Given the description of an element on the screen output the (x, y) to click on. 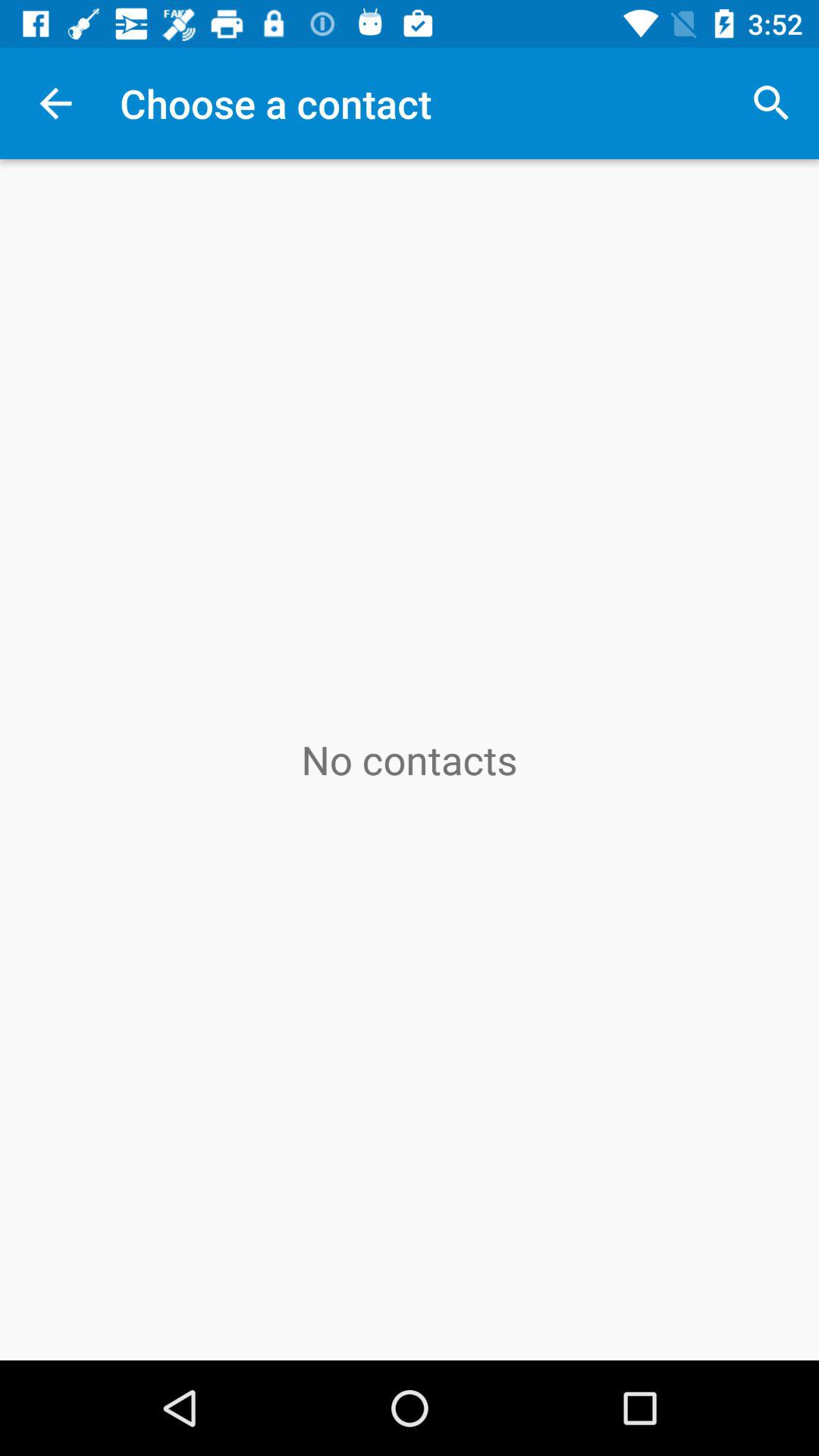
turn off item at the top right corner (771, 103)
